Given the description of an element on the screen output the (x, y) to click on. 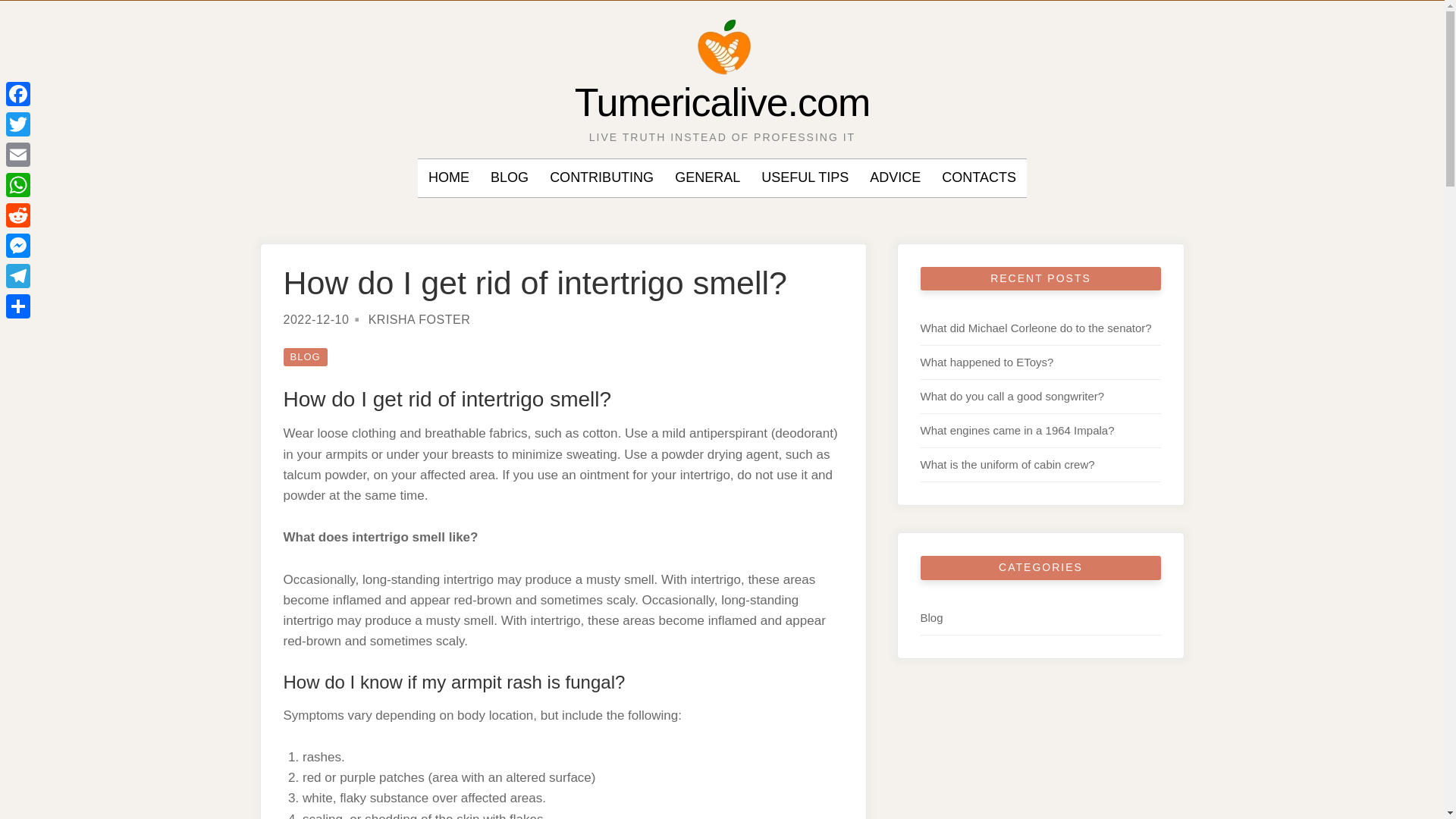
Messenger (17, 245)
KRISHA FOSTER (419, 318)
HOME (448, 177)
Email (17, 154)
Facebook (17, 93)
What is the uniform of cabin crew? (1007, 463)
Twitter (17, 123)
What did Michael Corleone do to the senator? (1035, 327)
Messenger (17, 245)
What engines came in a 1964 Impala? (1017, 430)
Reddit (17, 214)
WhatsApp (17, 184)
Tumericalive.com (722, 102)
ADVICE (894, 177)
BLOG (305, 357)
